Given the description of an element on the screen output the (x, y) to click on. 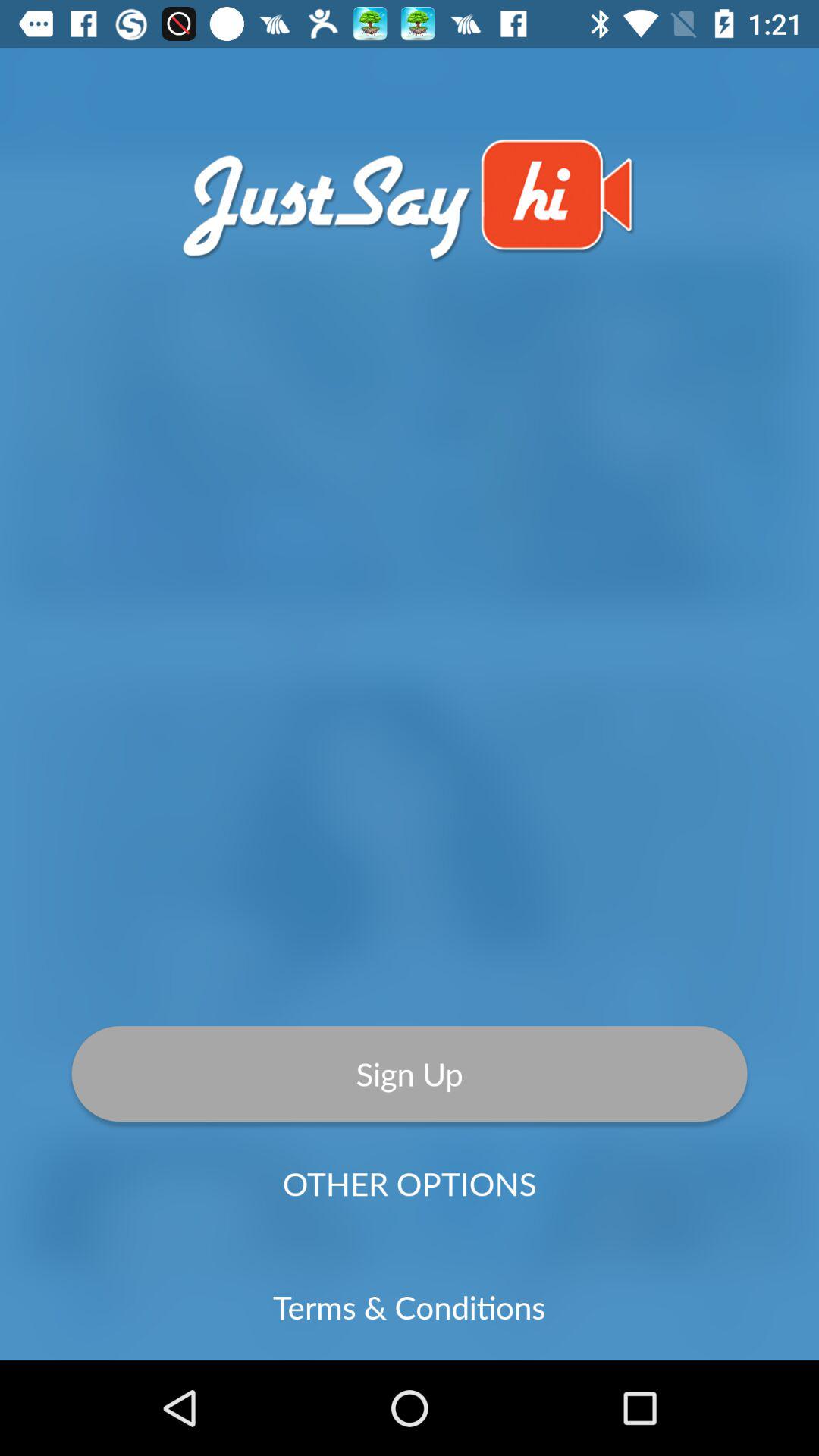
jump to sign up (409, 1073)
